Given the description of an element on the screen output the (x, y) to click on. 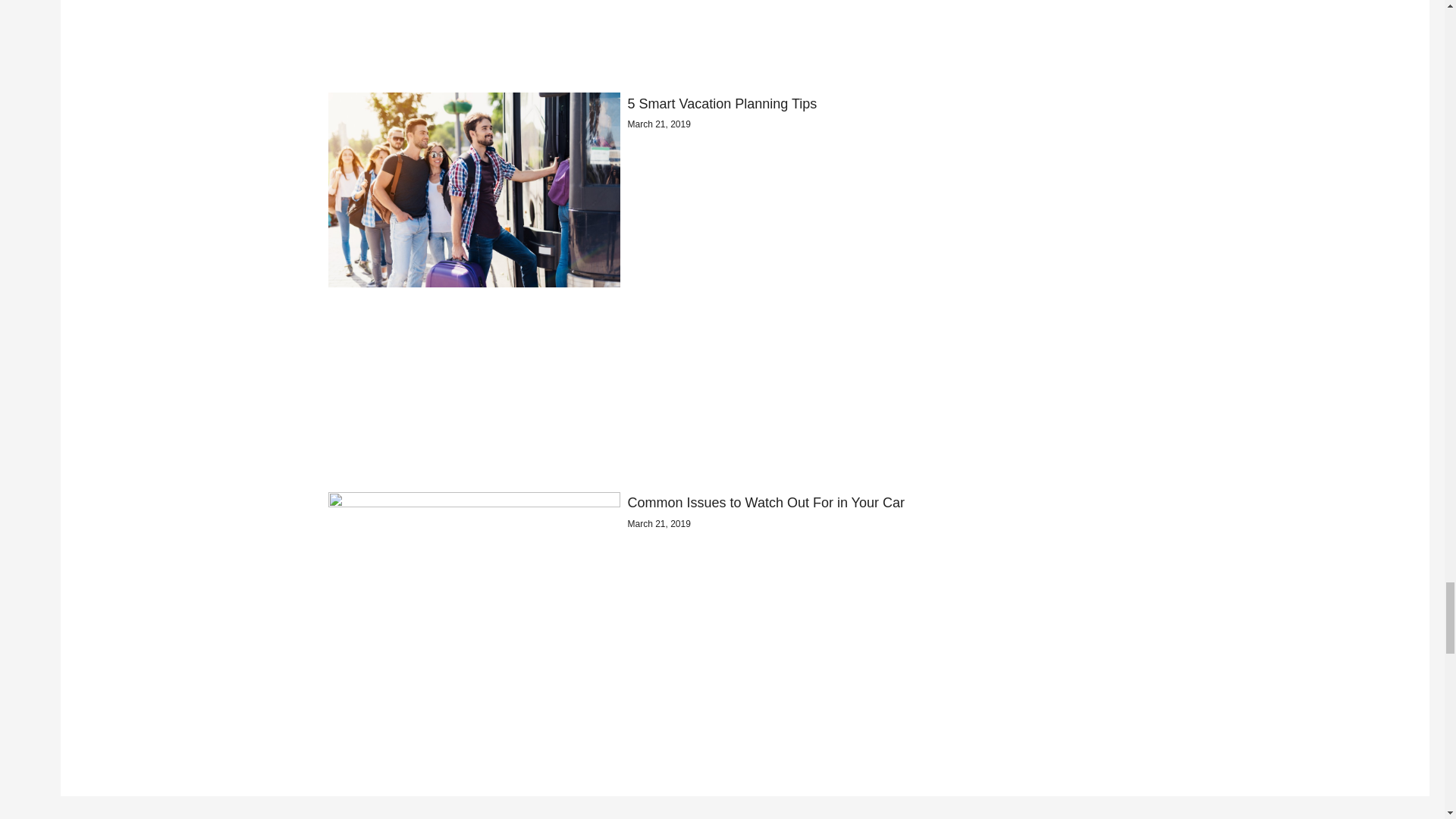
Common Issues to Watch Out For in Your Car (765, 502)
5 Smart Vacation Planning Tips (726, 103)
